Given the description of an element on the screen output the (x, y) to click on. 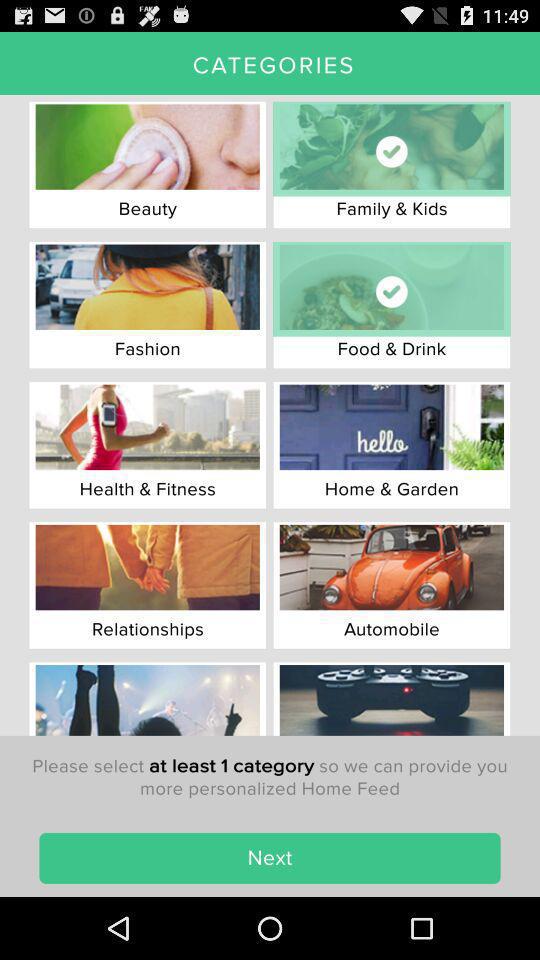
select the next item (269, 857)
